Given the description of an element on the screen output the (x, y) to click on. 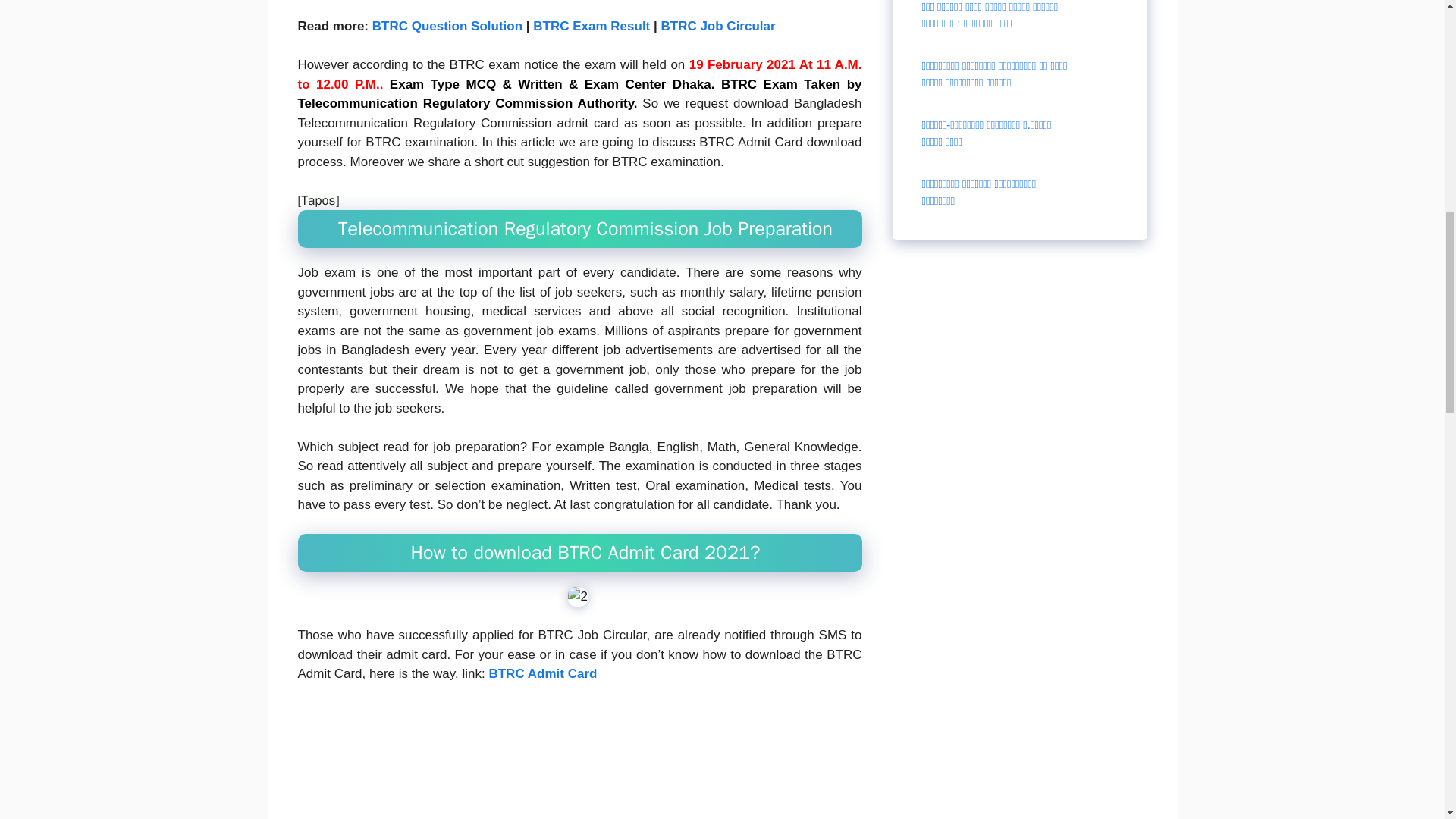
BTRC Question Solution (447, 27)
BTRC Admit Card (541, 674)
BTRC Exam Result (590, 27)
BTRC Job Circular (717, 27)
